Given the description of an element on the screen output the (x, y) to click on. 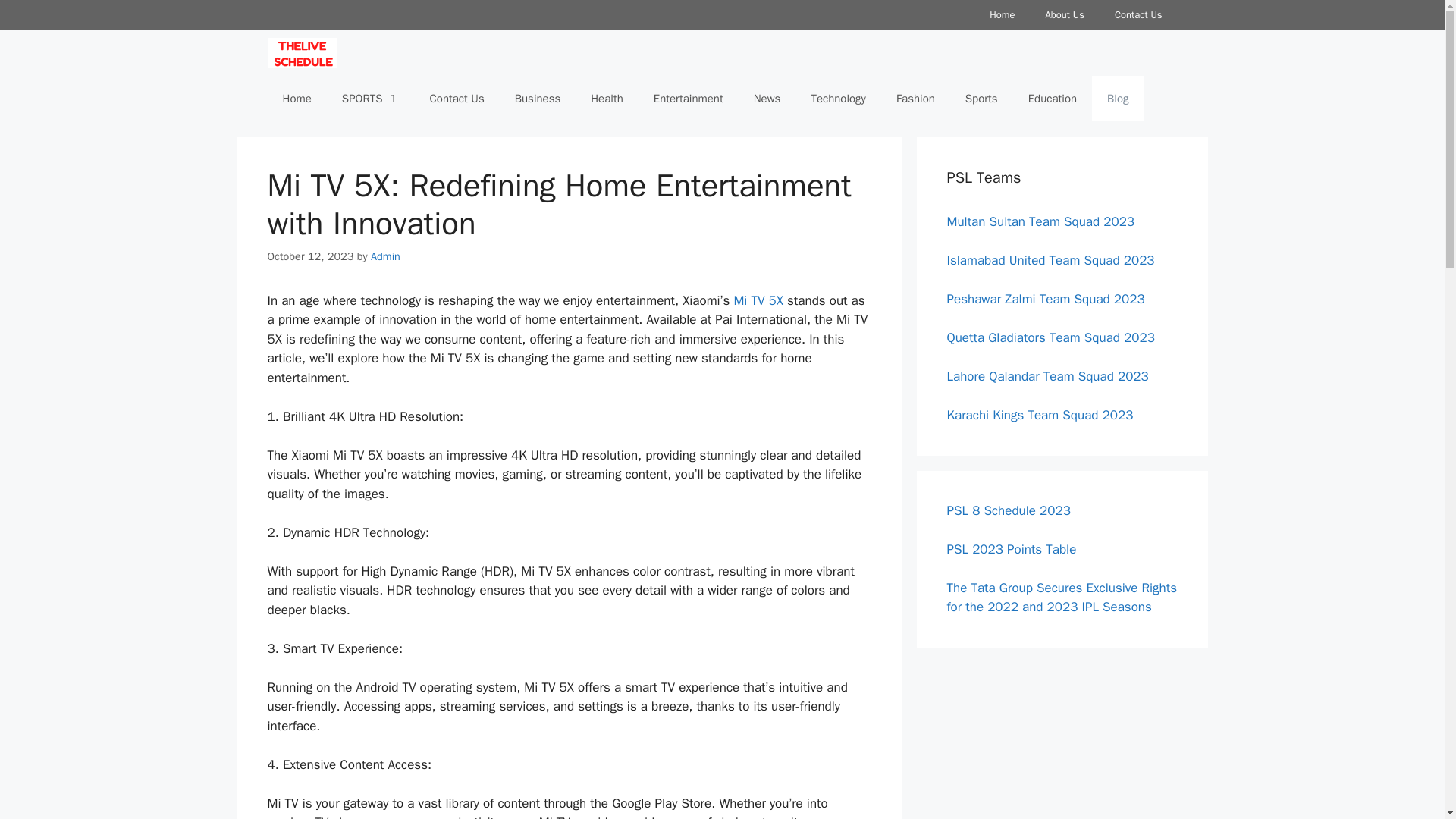
Home (296, 98)
Contact Us (456, 98)
Health (607, 98)
Business (537, 98)
Live Sports News (301, 53)
Home (1001, 15)
SPORTS (370, 98)
Entertainment (688, 98)
Contact Us (1138, 15)
Live Sports News (304, 53)
